Given the description of an element on the screen output the (x, y) to click on. 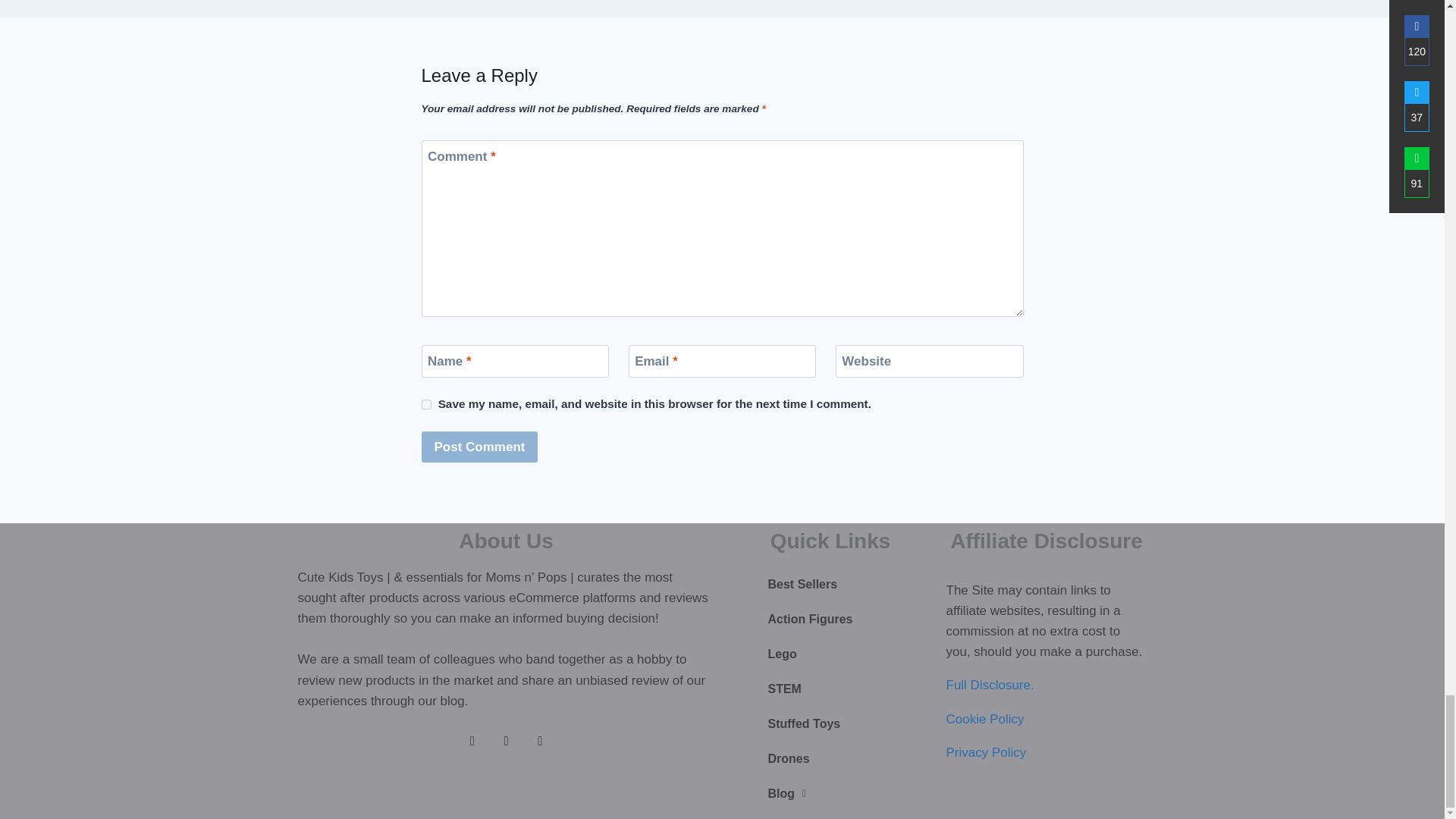
yes (426, 404)
Post Comment (480, 446)
